Given the description of an element on the screen output the (x, y) to click on. 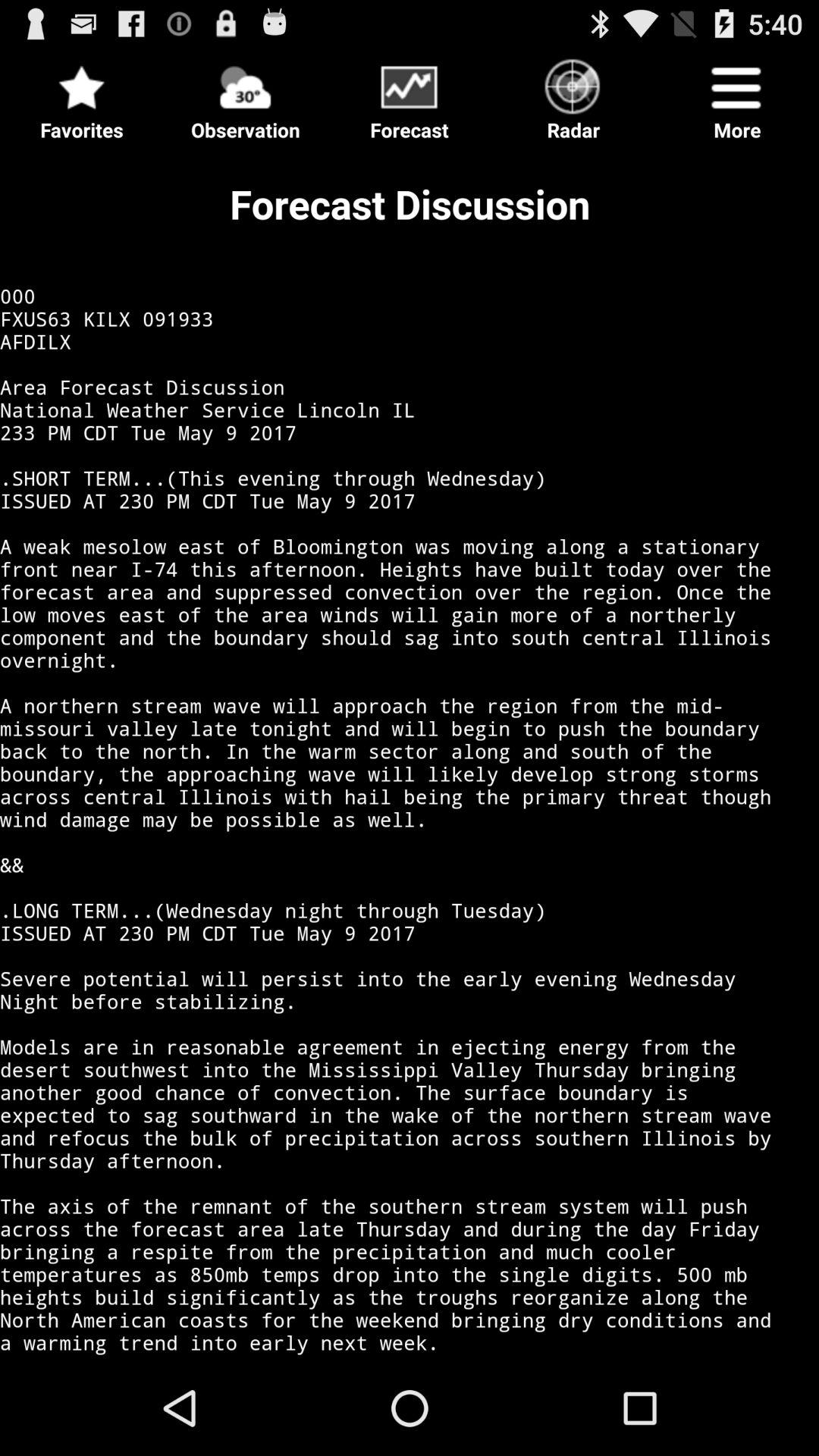
select button to the right of forecast button (573, 95)
